Given the description of an element on the screen output the (x, y) to click on. 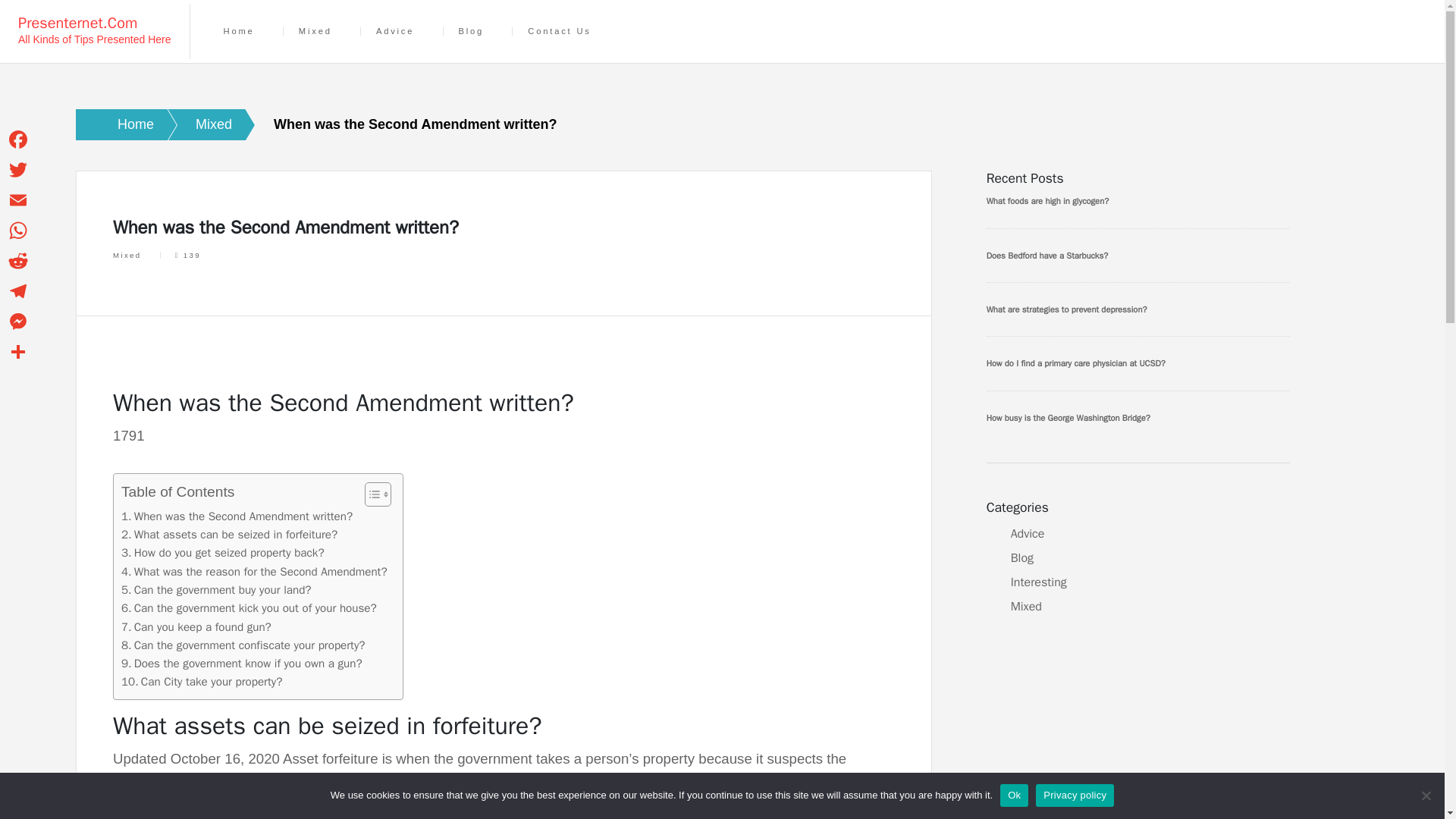
Twitter (17, 169)
Can you keep a found gun? (195, 627)
Advice (394, 31)
How busy is the George Washington Bridge? (1138, 417)
What assets can be seized in forfeiture? (228, 534)
What assets can be seized in forfeiture? (228, 534)
What are strategies to prevent depression? (1138, 309)
What was the reason for the Second Amendment? (253, 571)
Interesting (1038, 581)
When was the Second Amendment written? (236, 515)
Can the government buy your land? (215, 589)
Can City take your property? (201, 681)
Can the government confiscate your property? (242, 645)
Can City take your property? (201, 681)
Can you keep a found gun? (195, 627)
